Given the description of an element on the screen output the (x, y) to click on. 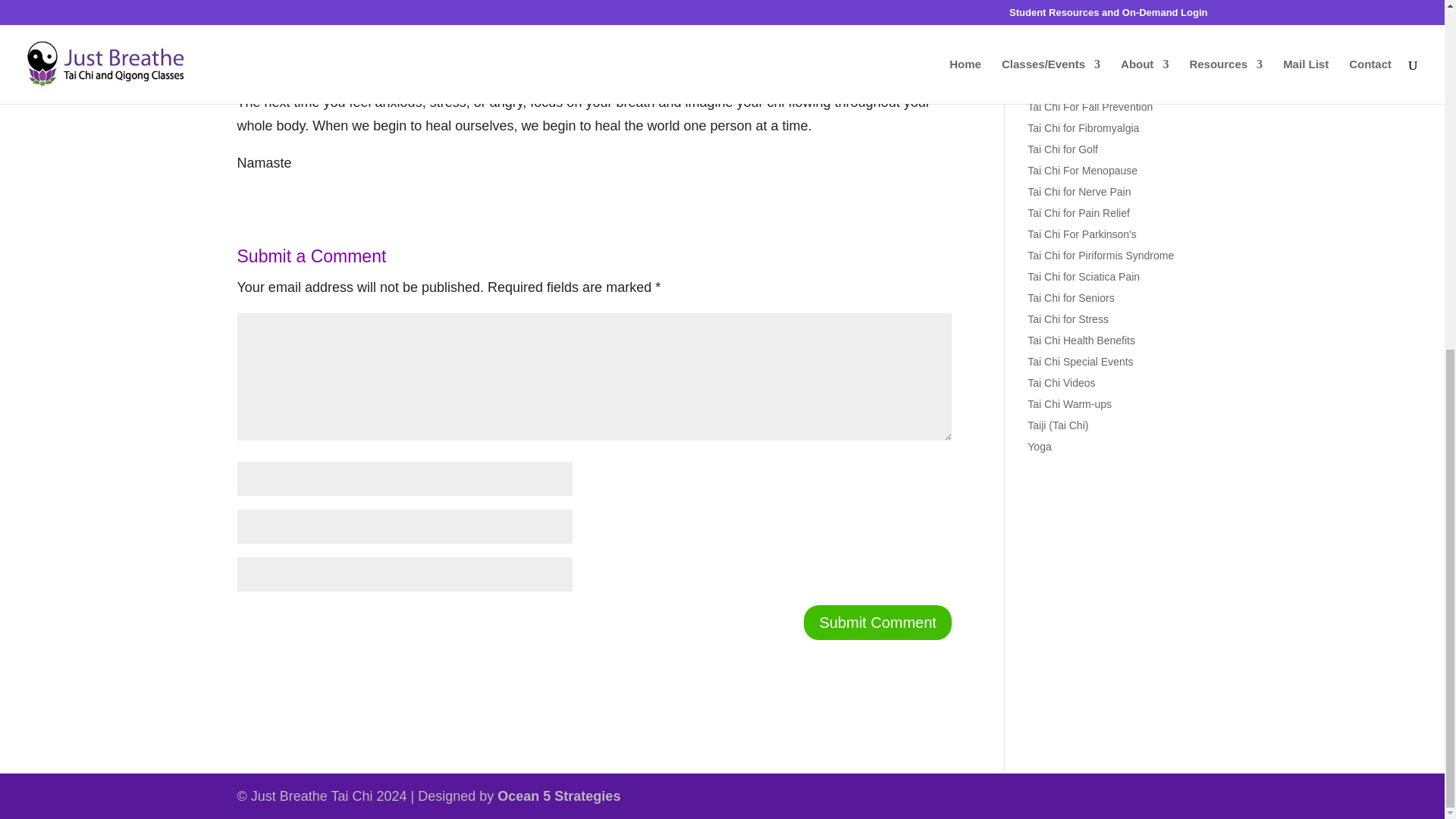
Submit Comment (877, 622)
